Given the description of an element on the screen output the (x, y) to click on. 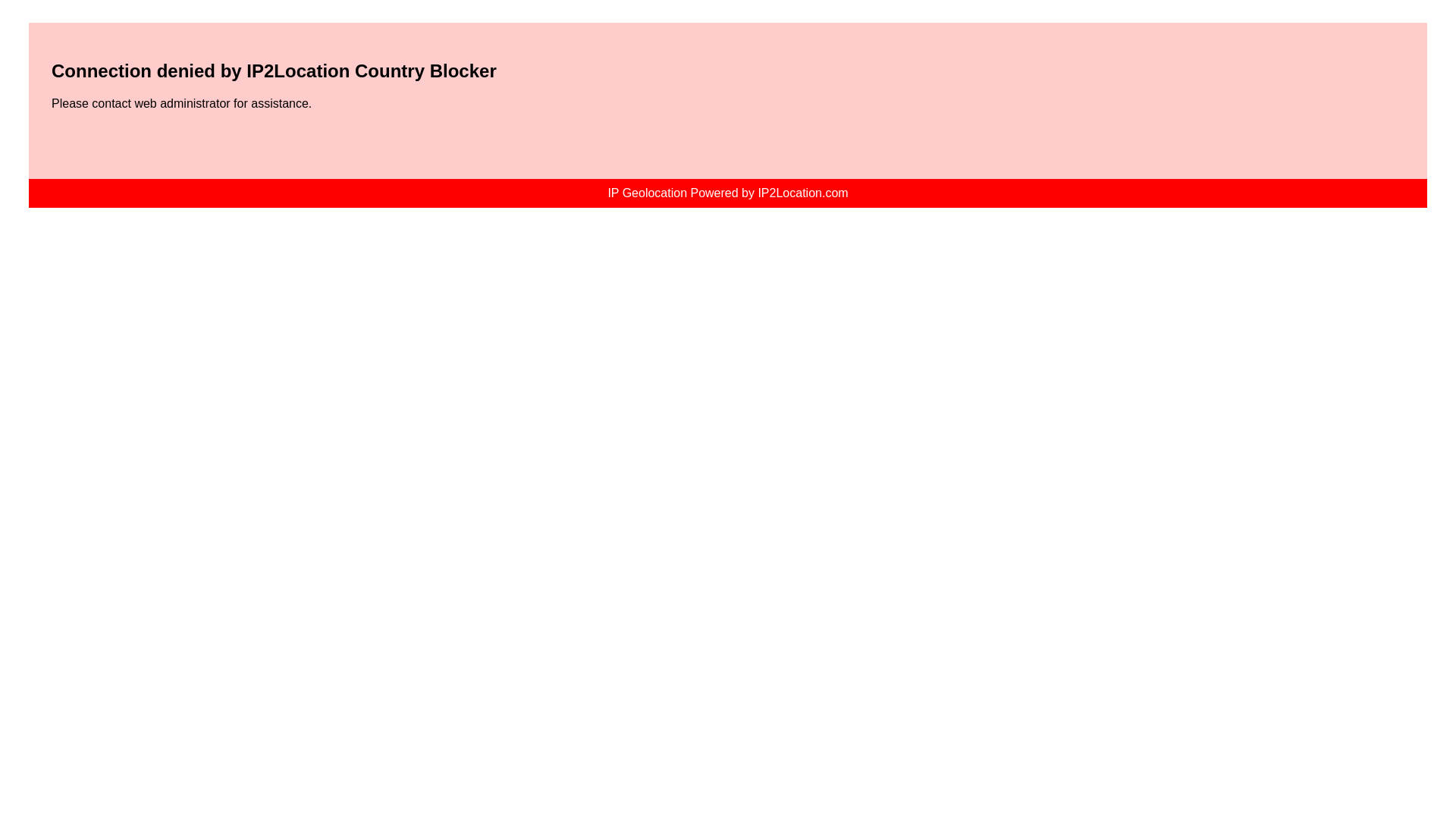
IP Geolocation Powered by IP2Location.com (727, 192)
